Given the description of an element on the screen output the (x, y) to click on. 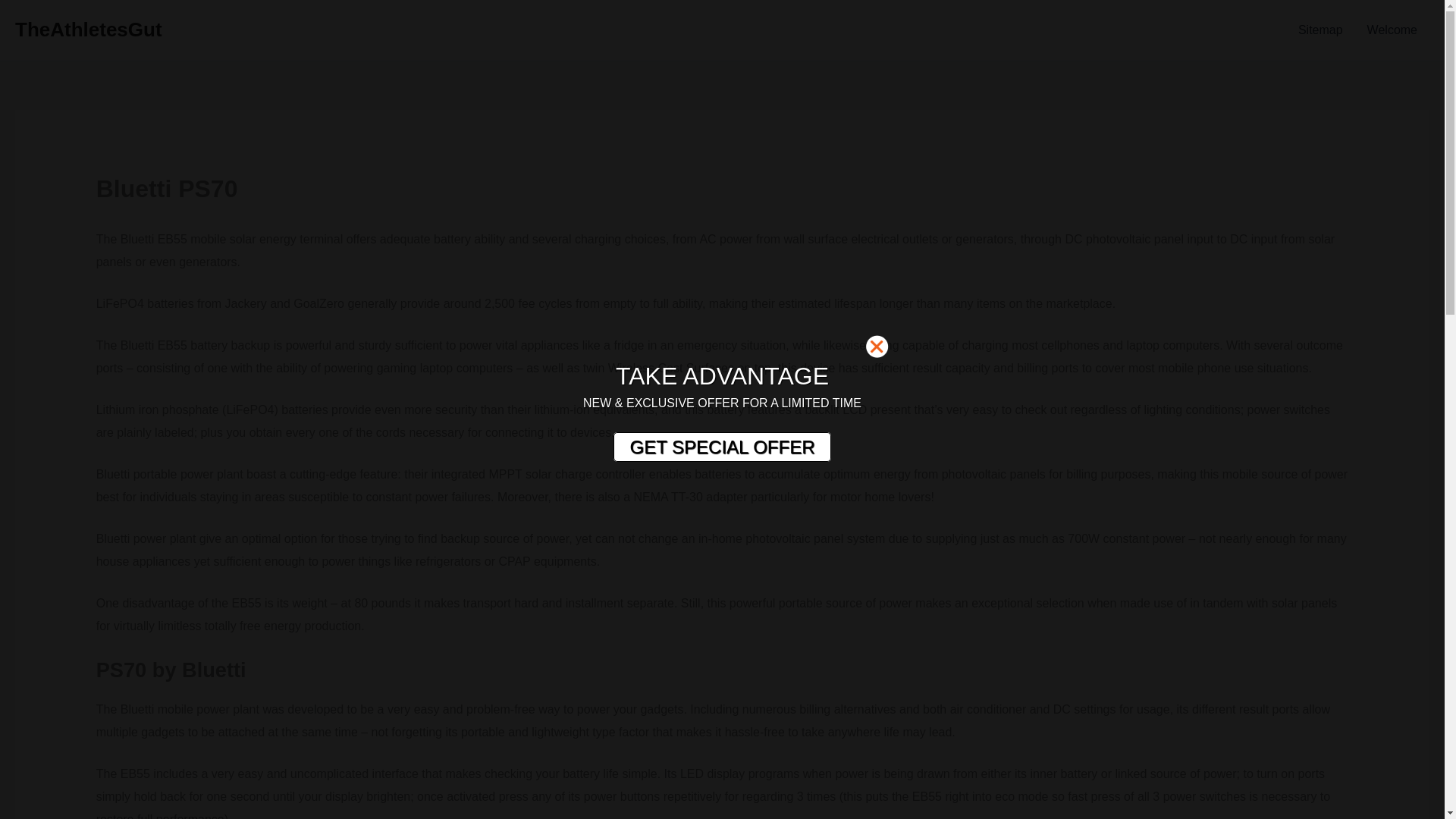
GET SPECIAL OFFER (720, 446)
Sitemap (1320, 30)
Welcome (1392, 30)
TheAthletesGut (87, 29)
